Given the description of an element on the screen output the (x, y) to click on. 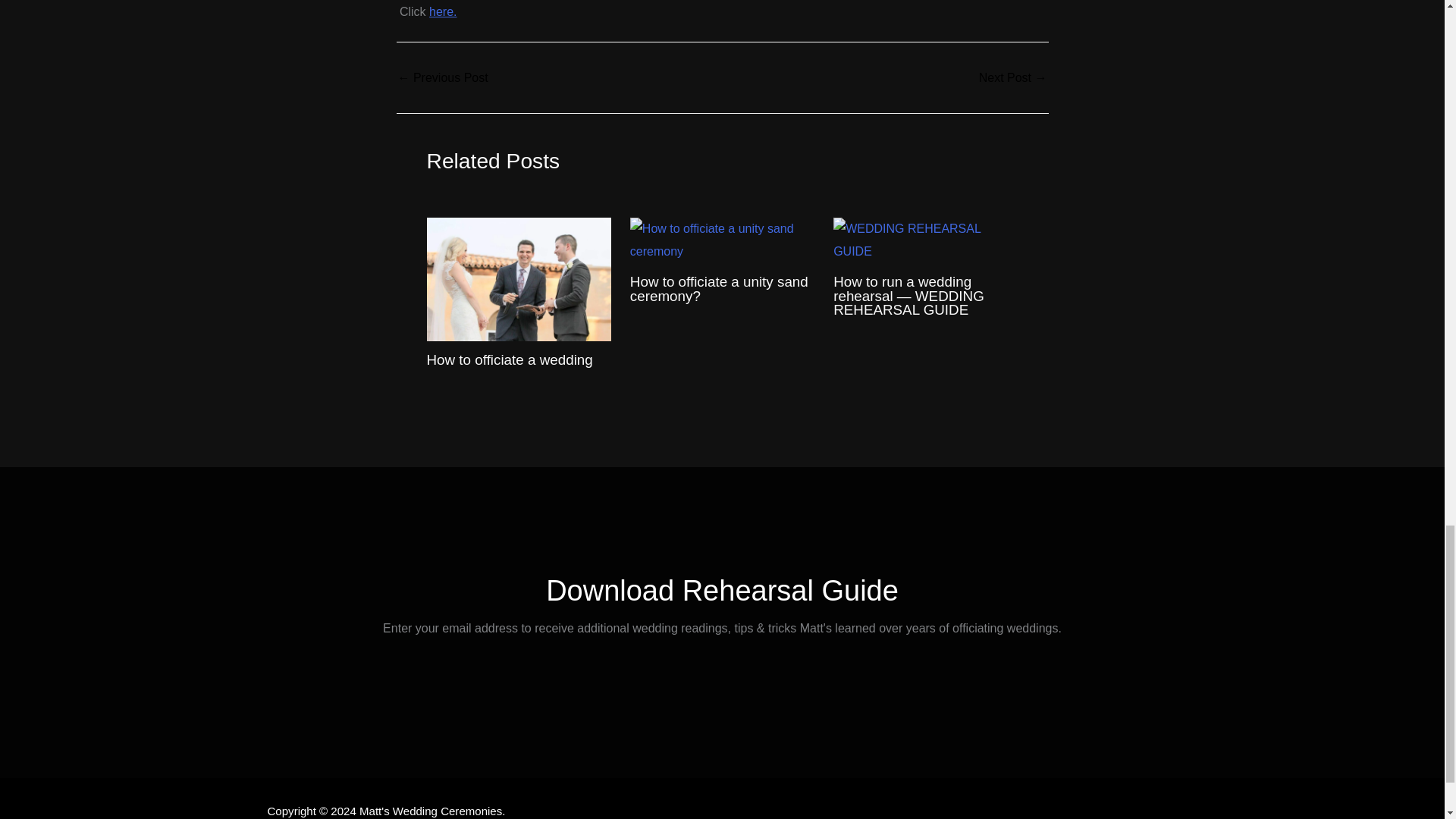
here. (443, 11)
How to officiate a unity sand ceremony? (719, 288)
How to officiate a wedding (509, 359)
How to officiate a unity sand ceremony? (442, 78)
